Given the description of an element on the screen output the (x, y) to click on. 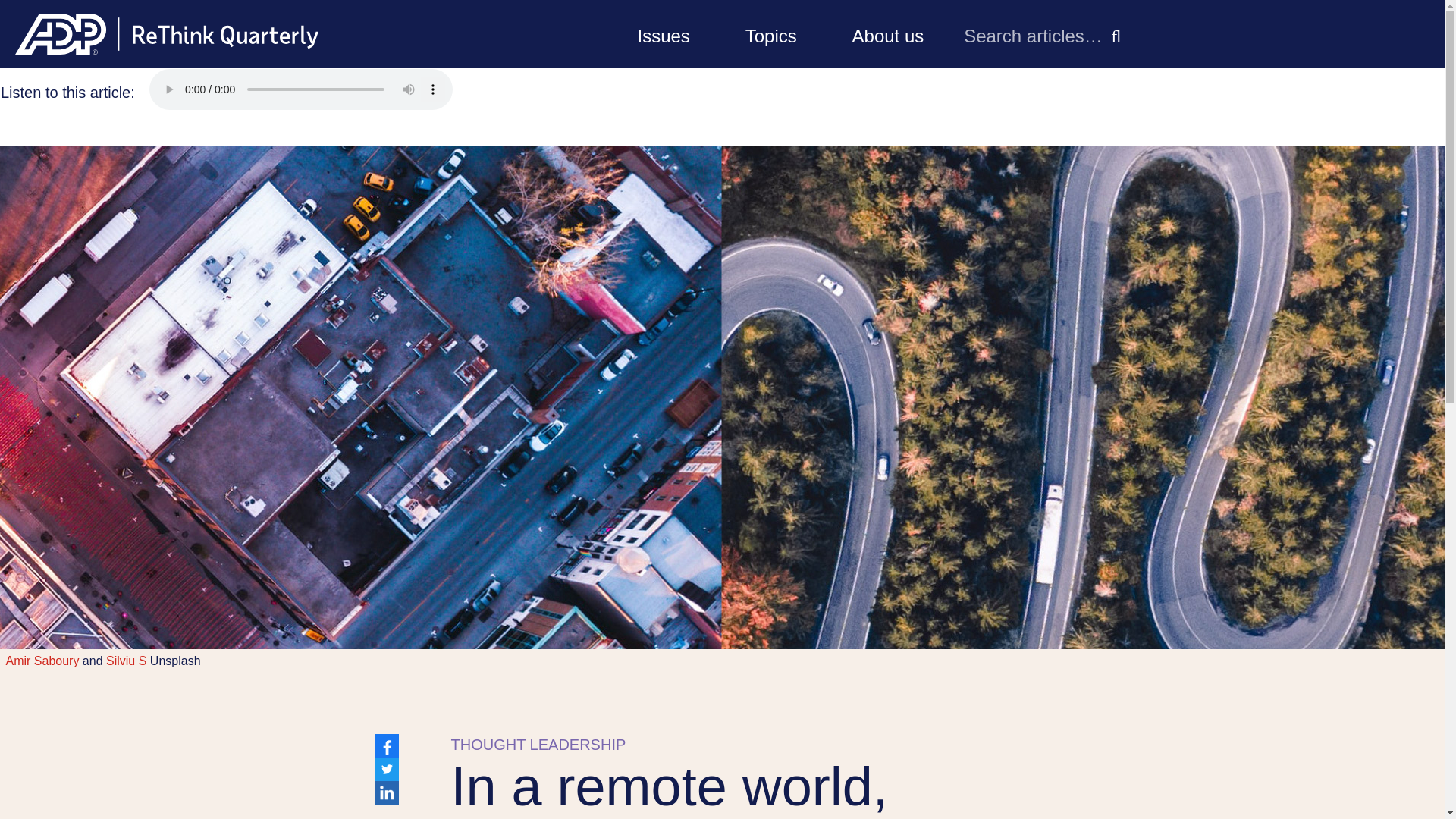
Topics (771, 33)
About us (888, 33)
Amir Saboury (42, 660)
Issues (662, 33)
Silviu S (126, 660)
Topics (771, 33)
Issues (662, 33)
